Given the description of an element on the screen output the (x, y) to click on. 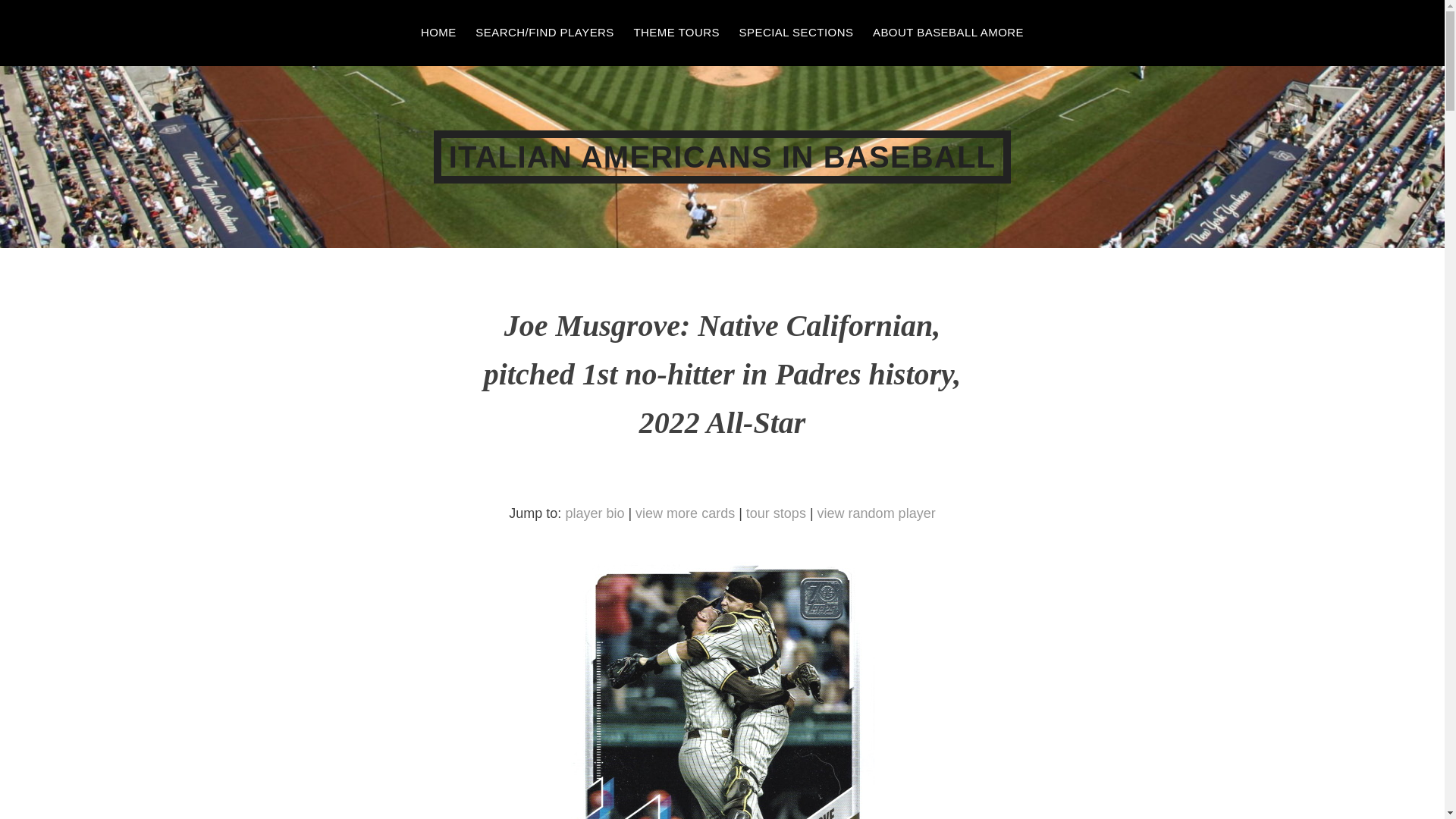
tour stops (775, 514)
view more cards (684, 514)
player bio (594, 514)
THEME TOURS (676, 32)
view random player (876, 514)
ABOUT BASEBALL AMORE (947, 32)
SPECIAL SECTIONS (796, 32)
ITALIAN AMERICANS IN BASEBALL (721, 156)
